Given the description of an element on the screen output the (x, y) to click on. 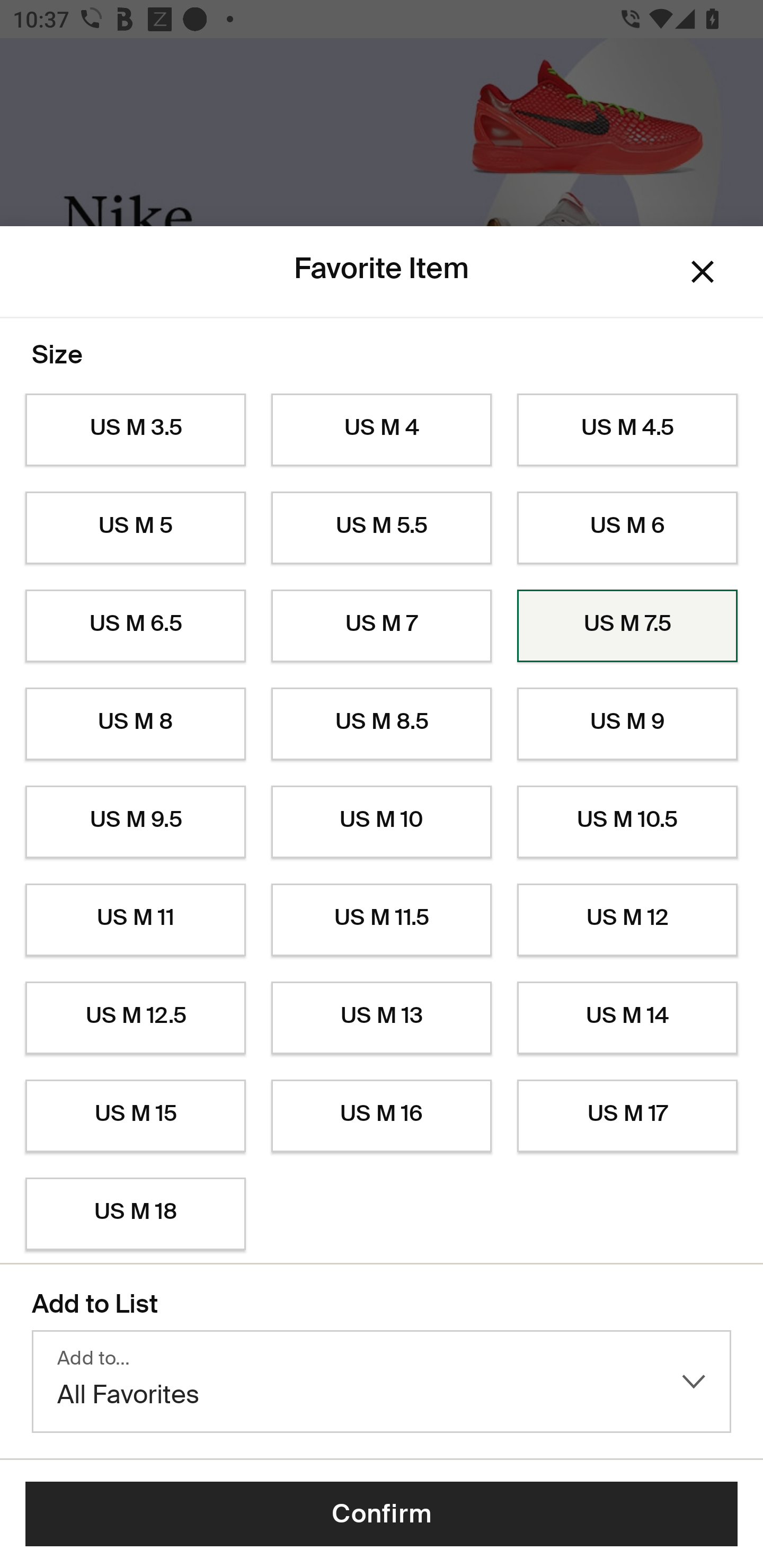
Dismiss (702, 271)
US M 3.5 (135, 430)
US M 4 (381, 430)
US M 4.5 (627, 430)
US M 5 (135, 527)
US M 5.5 (381, 527)
US M 6 (627, 527)
US M 6.5 (135, 626)
US M 7 (381, 626)
US M 7.5 (627, 626)
US M 8 (135, 724)
US M 8.5 (381, 724)
US M 9 (627, 724)
US M 9.5 (135, 822)
US M 10 (381, 822)
US M 10.5 (627, 822)
US M 11 (135, 919)
US M 11.5 (381, 919)
US M 12 (627, 919)
US M 12.5 (135, 1018)
US M 13 (381, 1018)
US M 14 (627, 1018)
US M 15 (135, 1116)
US M 16 (381, 1116)
US M 17 (627, 1116)
US M 18 (135, 1214)
Add to… All Favorites (381, 1381)
Confirm (381, 1513)
